Given the description of an element on the screen output the (x, y) to click on. 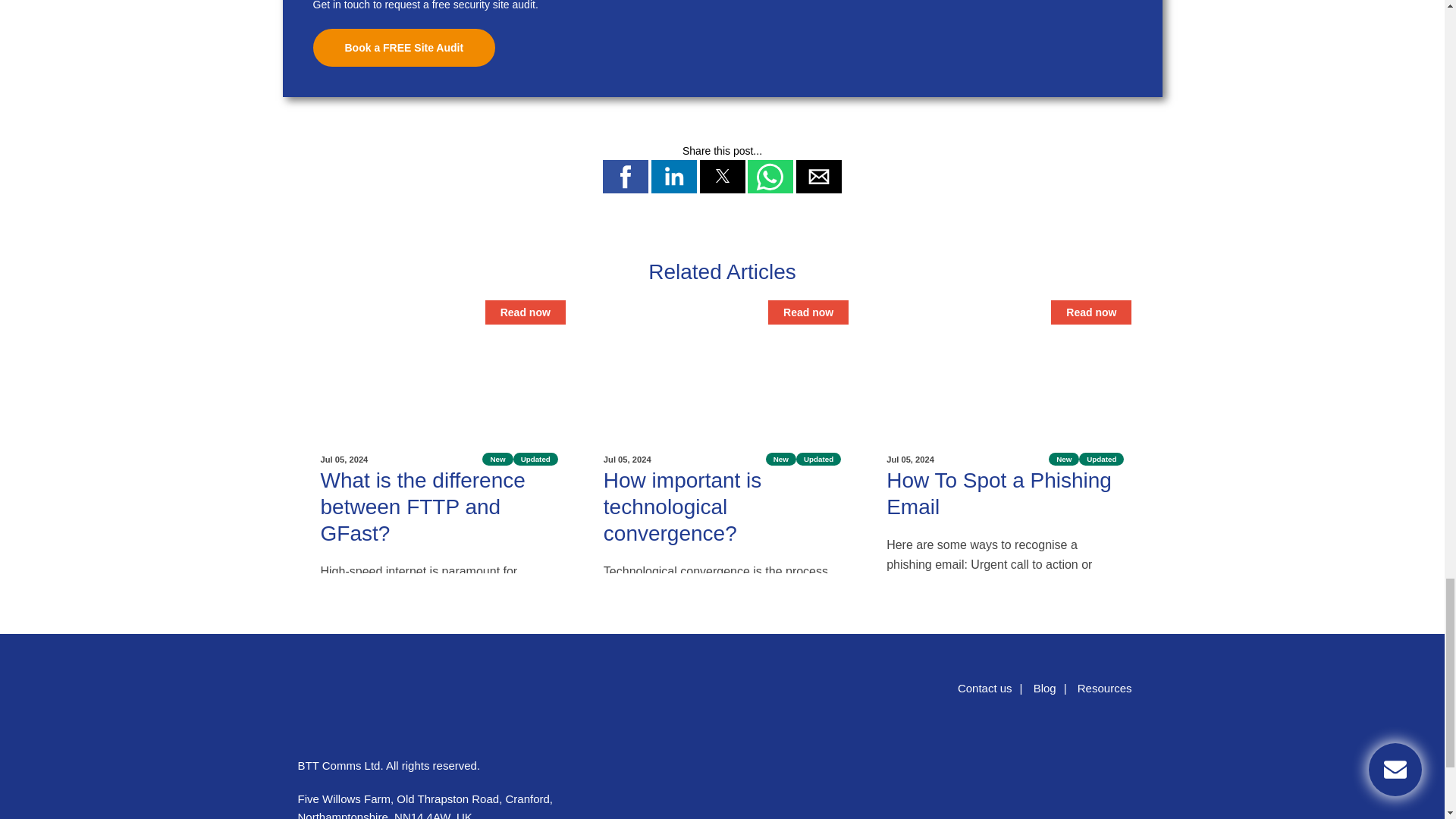
Ombudsman Services (1106, 779)
BNI (1021, 779)
